Given the description of an element on the screen output the (x, y) to click on. 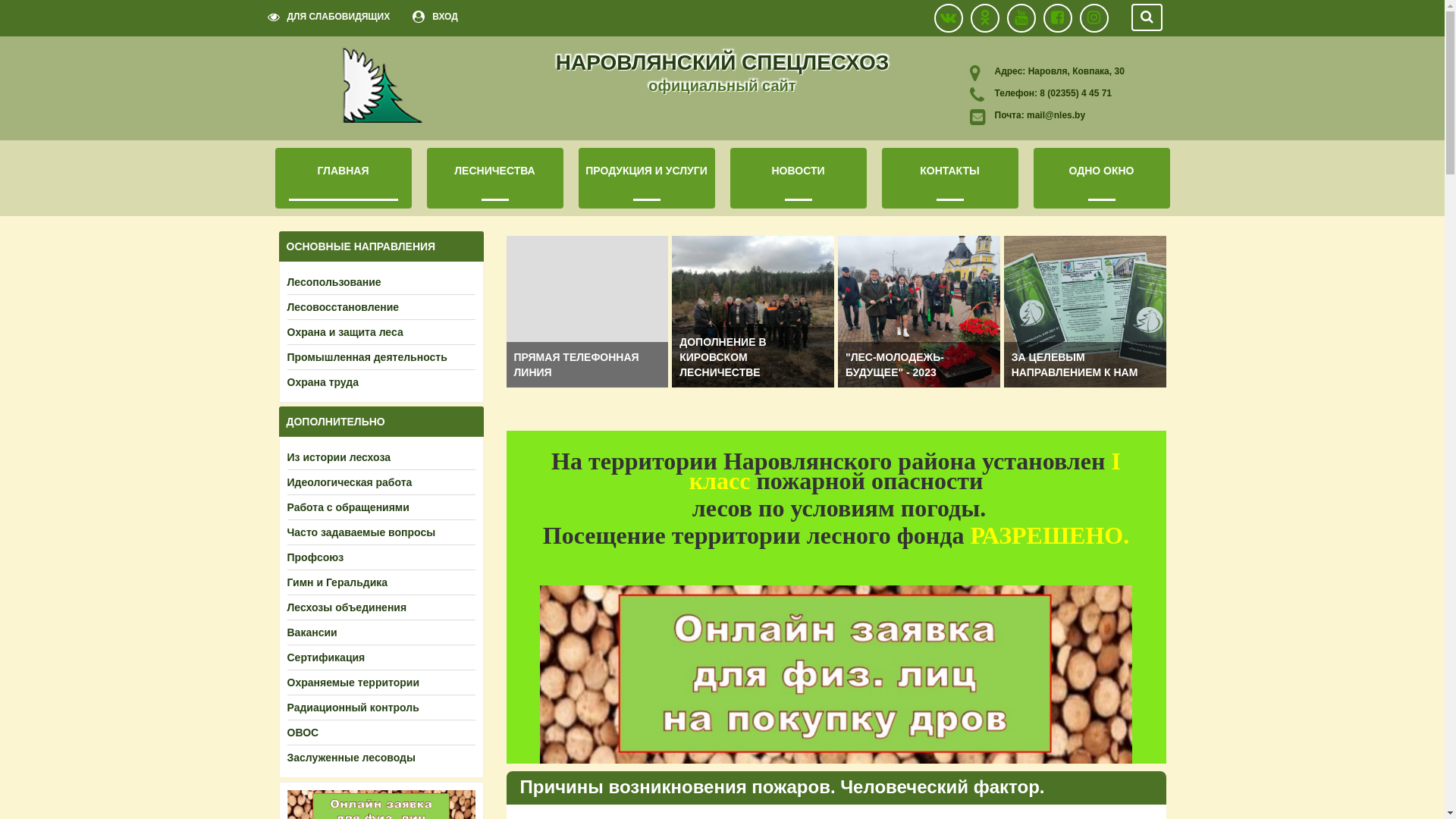
8 (02355) 4 45 71 Element type: text (1074, 92)
mail@nles.by Element type: text (1055, 114)
